Given the description of an element on the screen output the (x, y) to click on. 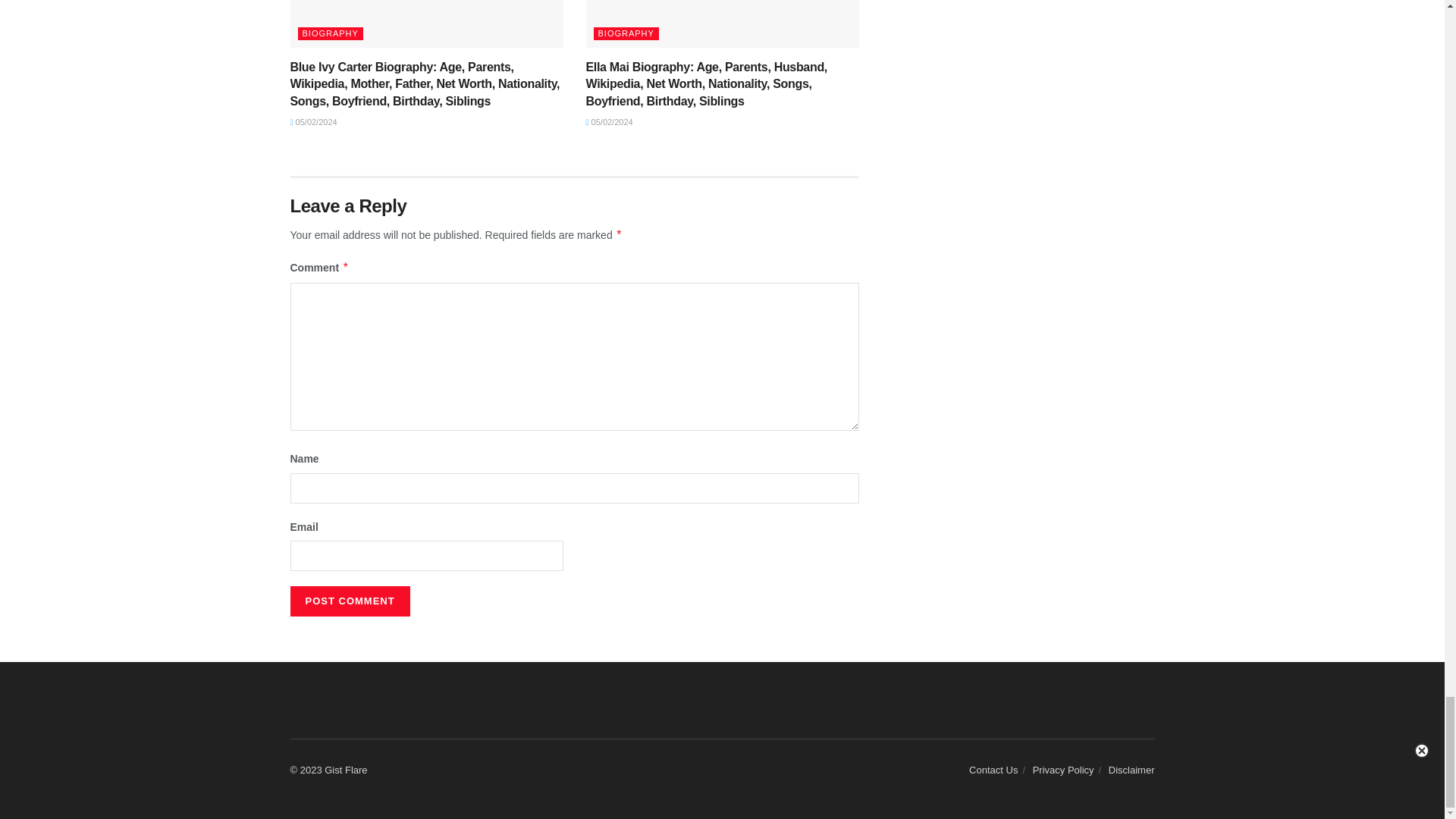
Post Comment (349, 601)
